Given the description of an element on the screen output the (x, y) to click on. 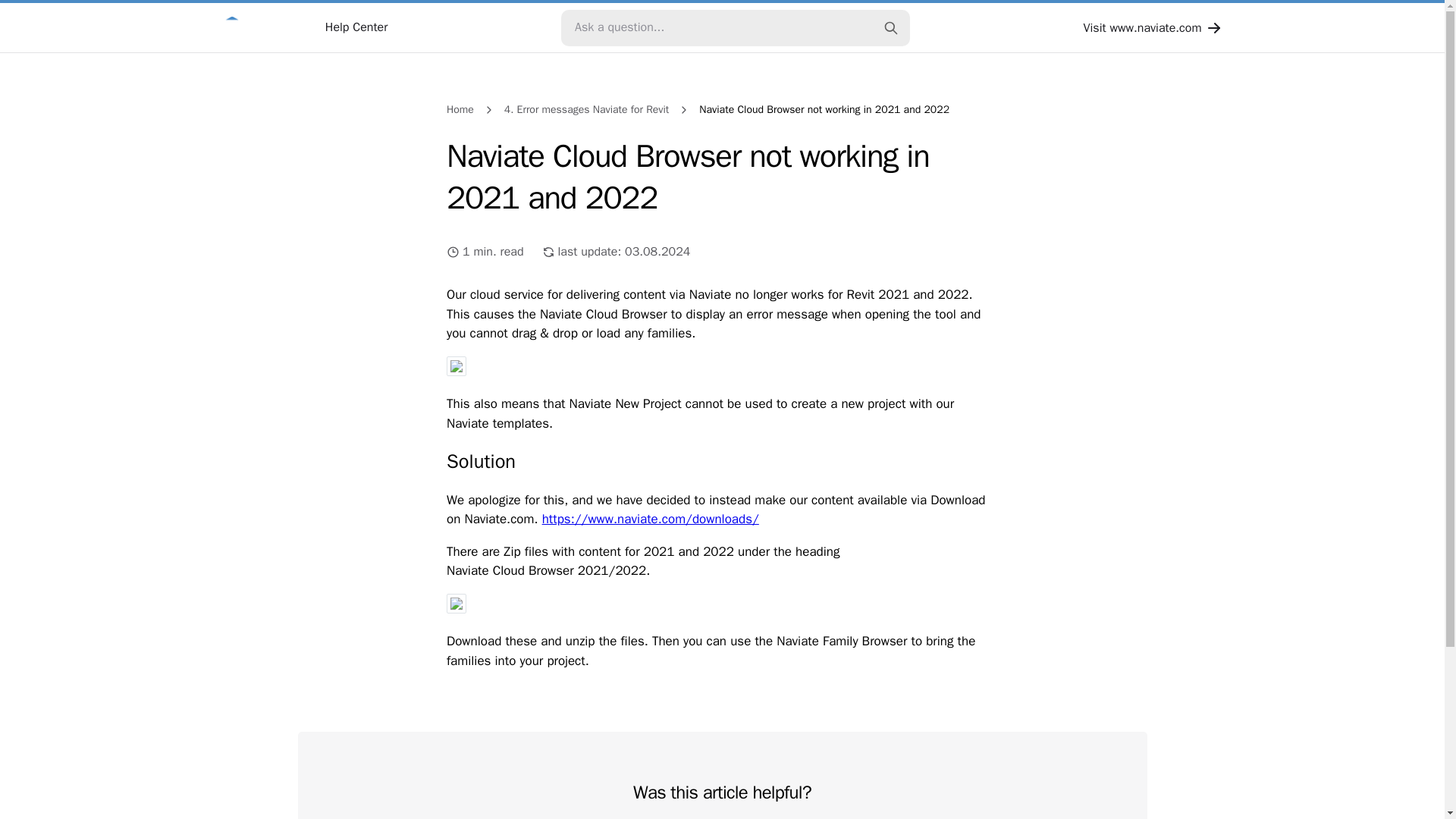
Visit www.naviate.com (1153, 27)
4. Error messages Naviate for Revit (586, 109)
Home (460, 109)
Help Center (304, 27)
